Given the description of an element on the screen output the (x, y) to click on. 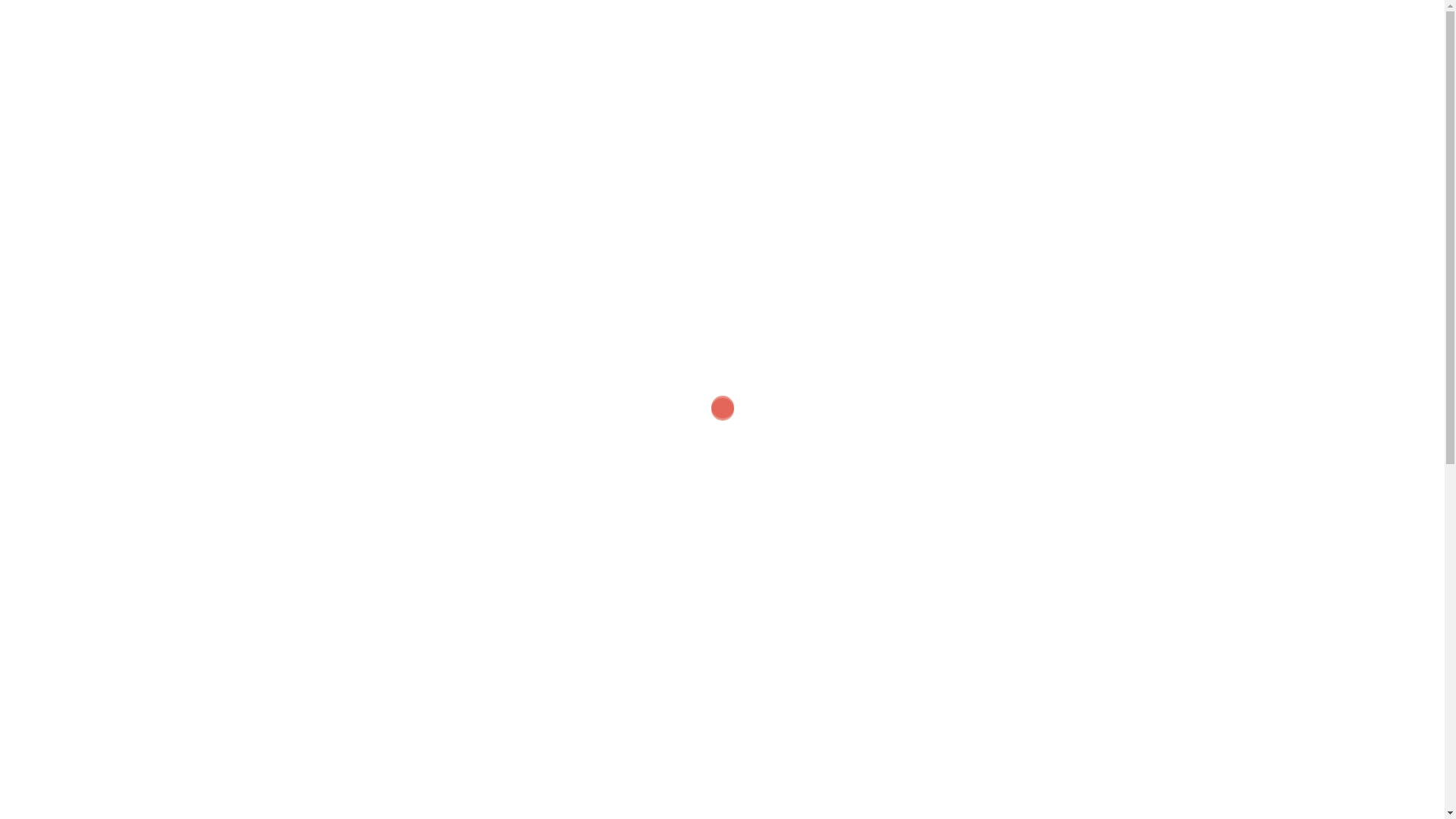
info@30aSUP.com Element type: text (1020, 373)
SoWal Live Cams Element type: text (1007, 186)
SoWal / Destin Surf Report Element type: text (1033, 206)
Follow Us on Facebook Element type: hover (961, 493)
About Us Element type: text (807, 95)
SUP Rental Prices and Information Element type: text (674, 95)
30A Paddleboard Rentals Element type: text (721, 29)
Follow Us on Pinterest Element type: hover (1025, 493)
SoWal Weather Element type: text (1004, 227)
Contact Us Element type: text (881, 95)
Follow Us on YouTube Element type: hover (1056, 493)
Follow Us on Google+ Element type: hover (993, 493)
Home Element type: text (549, 95)
Carillon Beach Paddleboard Rentals Element type: text (1042, 708)
Skip to content Element type: text (0, 0)
SoWal Paddleboard Rentals Element type: text (1020, 659)
Rosemary Beach Paddleboard Rentals Element type: text (1026, 621)
